Given the description of an element on the screen output the (x, y) to click on. 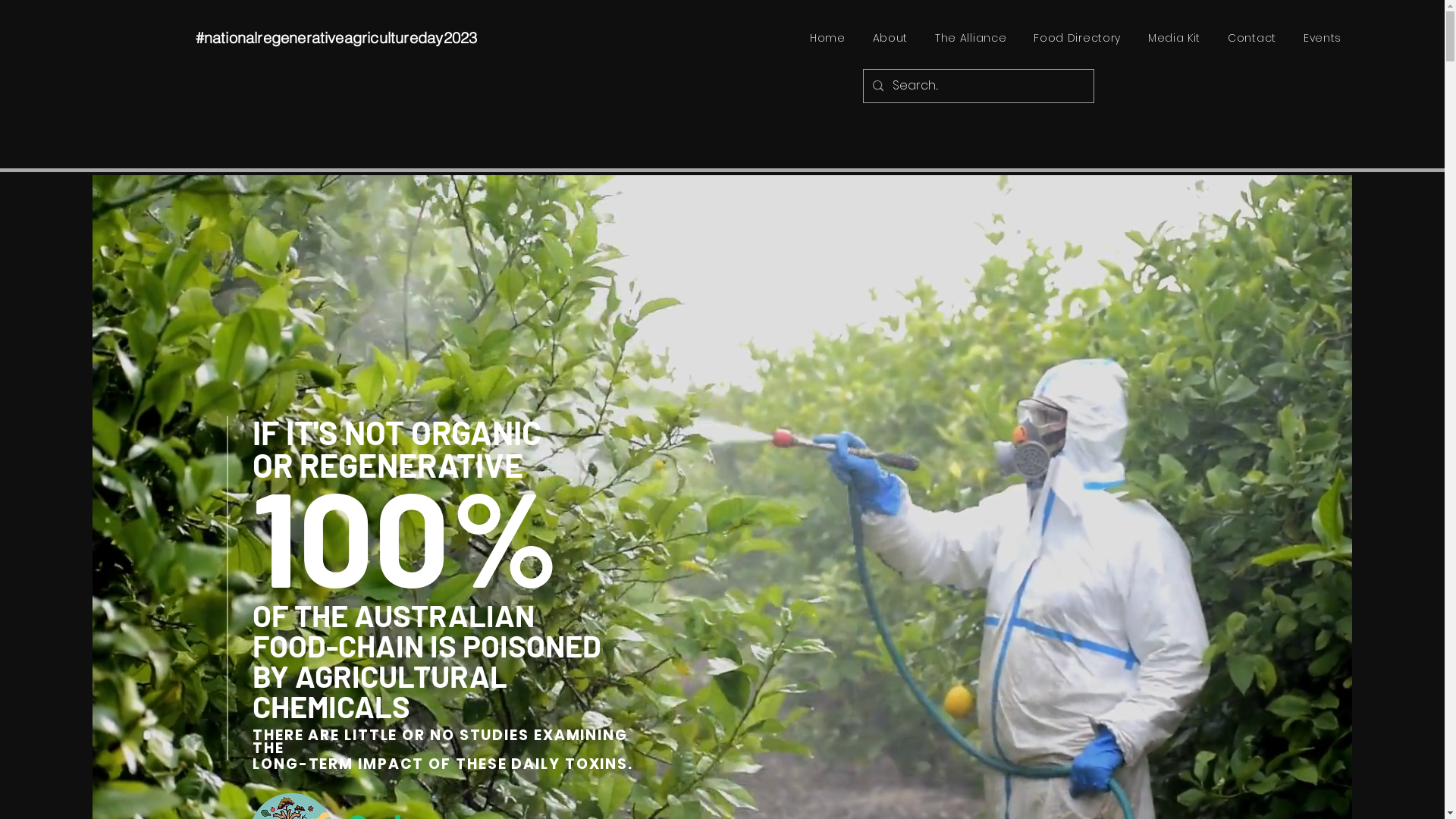
Contact Element type: text (1251, 37)
Events Element type: text (1322, 37)
The Alliance Element type: text (970, 37)
Media Kit Element type: text (1174, 37)
About Element type: text (890, 37)
Home Element type: text (827, 37)
Food Directory Element type: text (1076, 37)
